Given the description of an element on the screen output the (x, y) to click on. 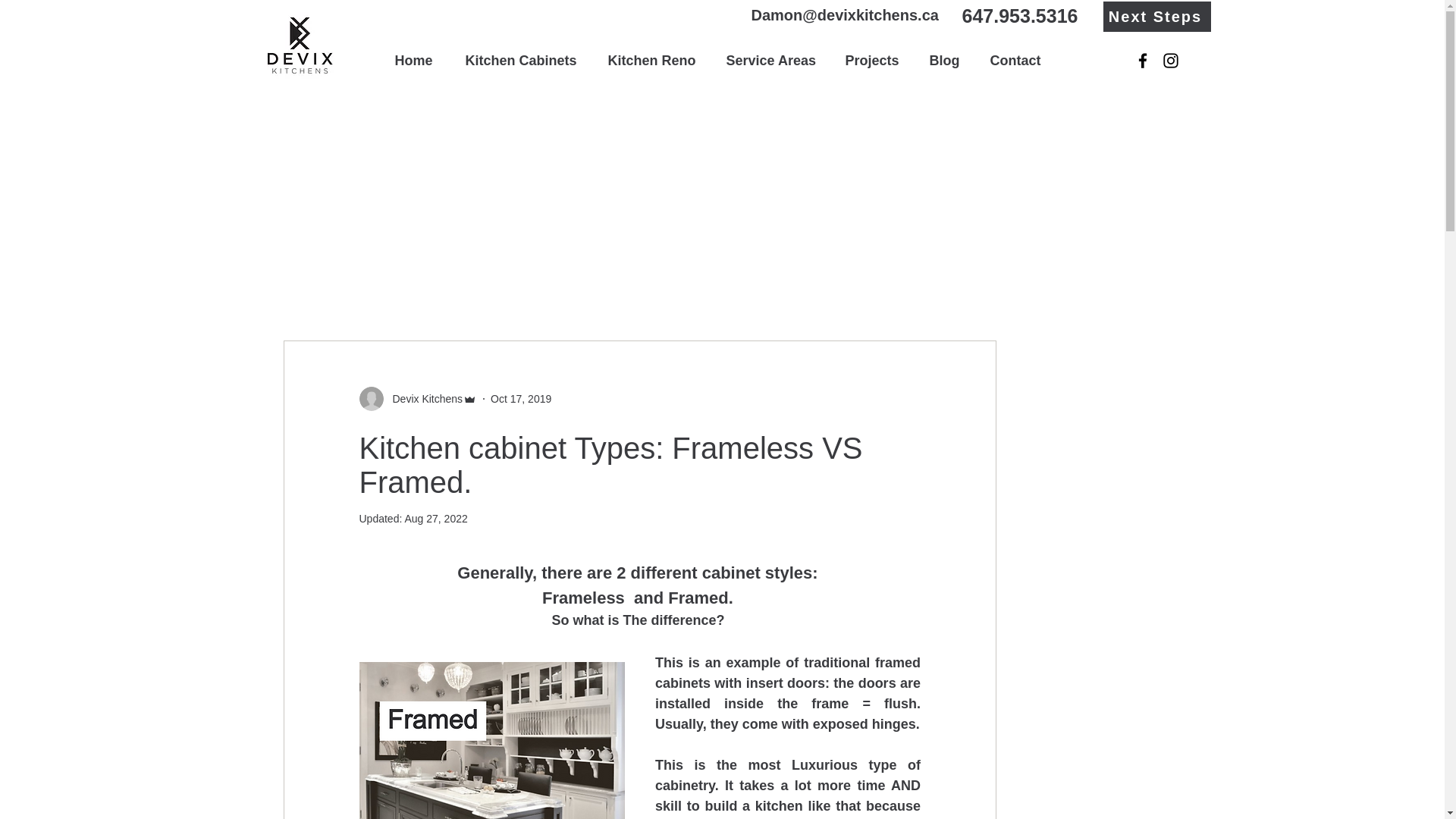
Home (419, 60)
647.953.5316 (1018, 15)
Oct 17, 2019 (520, 398)
Service Areas (773, 60)
Kitchen Reno (654, 60)
Next Steps (1155, 16)
Projects (876, 60)
Aug 27, 2022 (435, 518)
Blog (947, 60)
Contact (1018, 60)
Devix Kitchens (423, 399)
Kitchen Cabinets (523, 60)
